Given the description of an element on the screen output the (x, y) to click on. 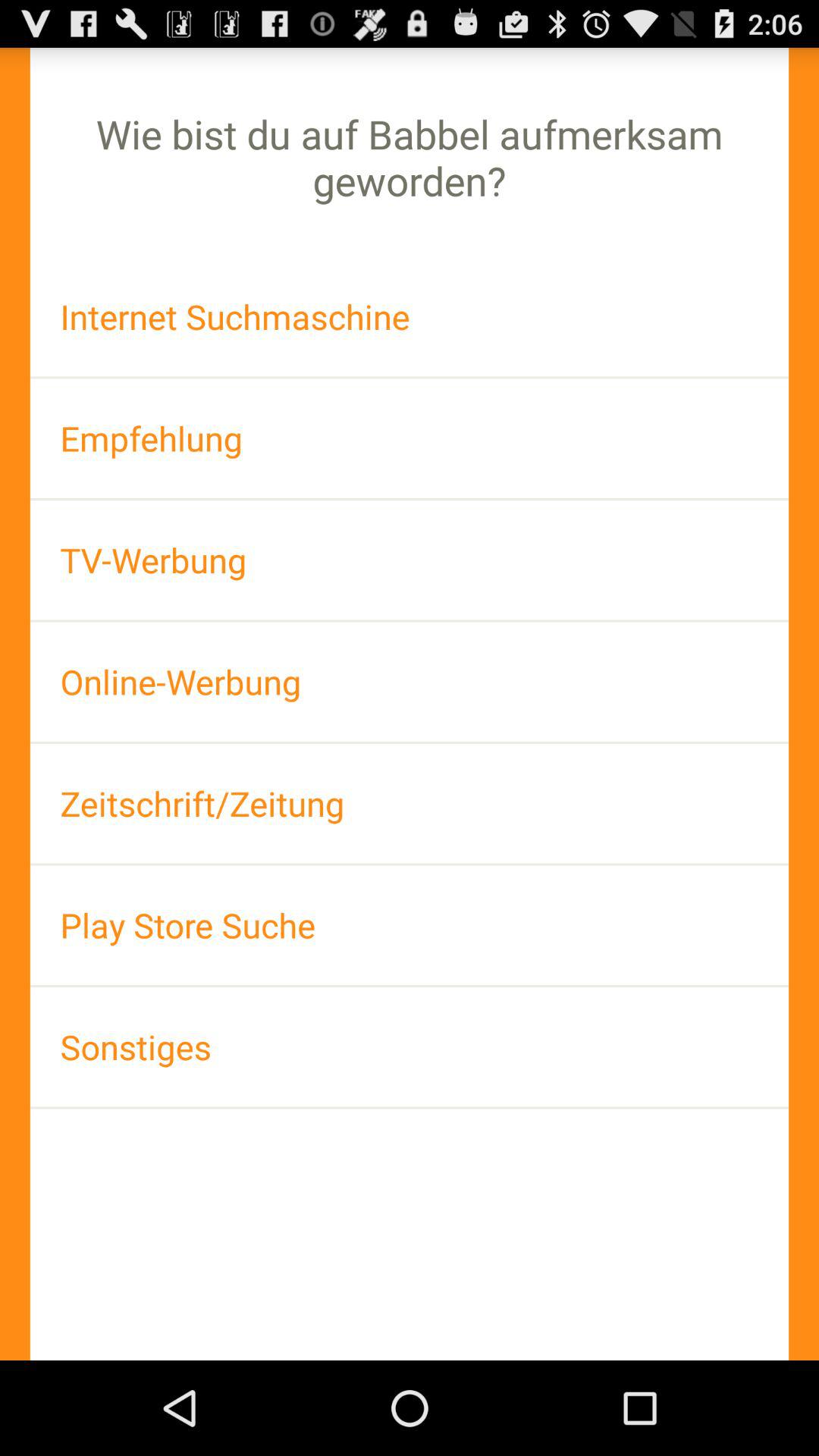
jump to the tv-werbung icon (409, 559)
